Given the description of an element on the screen output the (x, y) to click on. 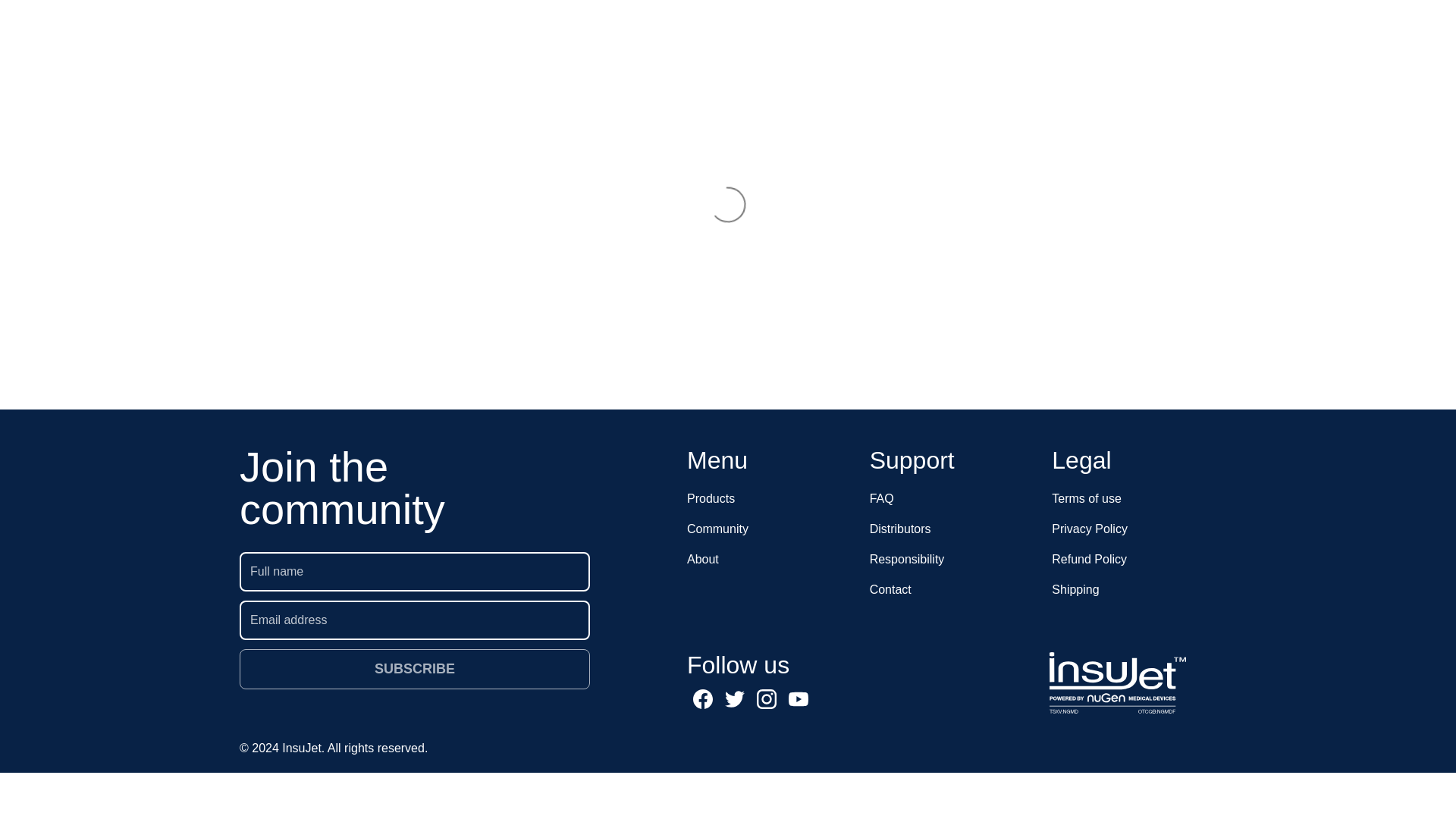
Products (769, 499)
Shipping (1133, 589)
Refund Policy (1133, 559)
Terms of use (1133, 499)
YouTube (798, 698)
About (769, 559)
Contact (951, 589)
Instagram (767, 698)
SUBSCRIBE (414, 669)
FAQ (951, 499)
